Given the description of an element on the screen output the (x, y) to click on. 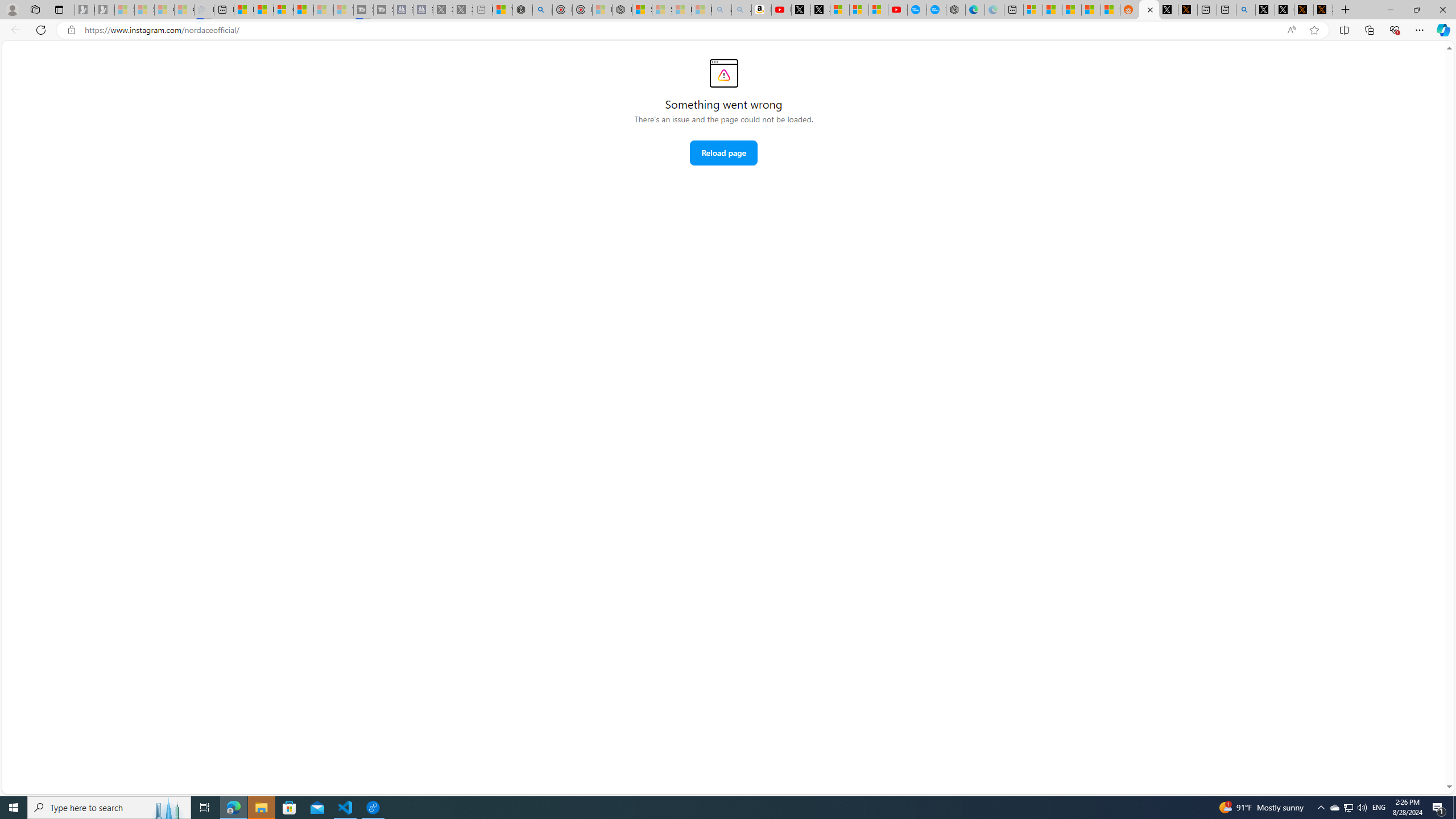
Error (723, 72)
Microsoft Start - Sleeping (322, 9)
help.x.com | 524: A timeout occurred (1187, 9)
Shanghai, China Weather trends | Microsoft Weather (1110, 9)
